Given the description of an element on the screen output the (x, y) to click on. 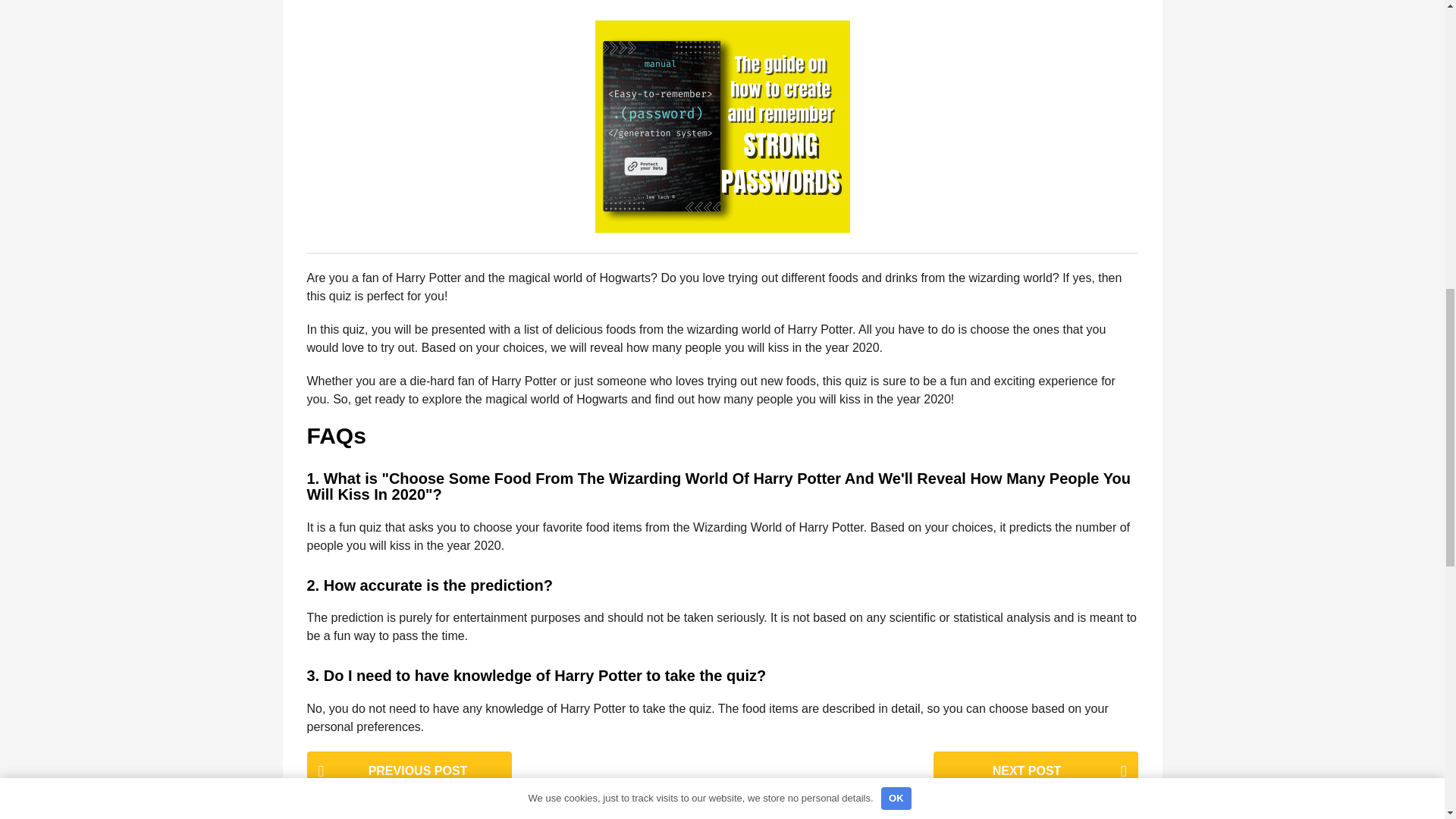
PREVIOUS POST (408, 771)
NEXT POST (1035, 771)
